Given the description of an element on the screen output the (x, y) to click on. 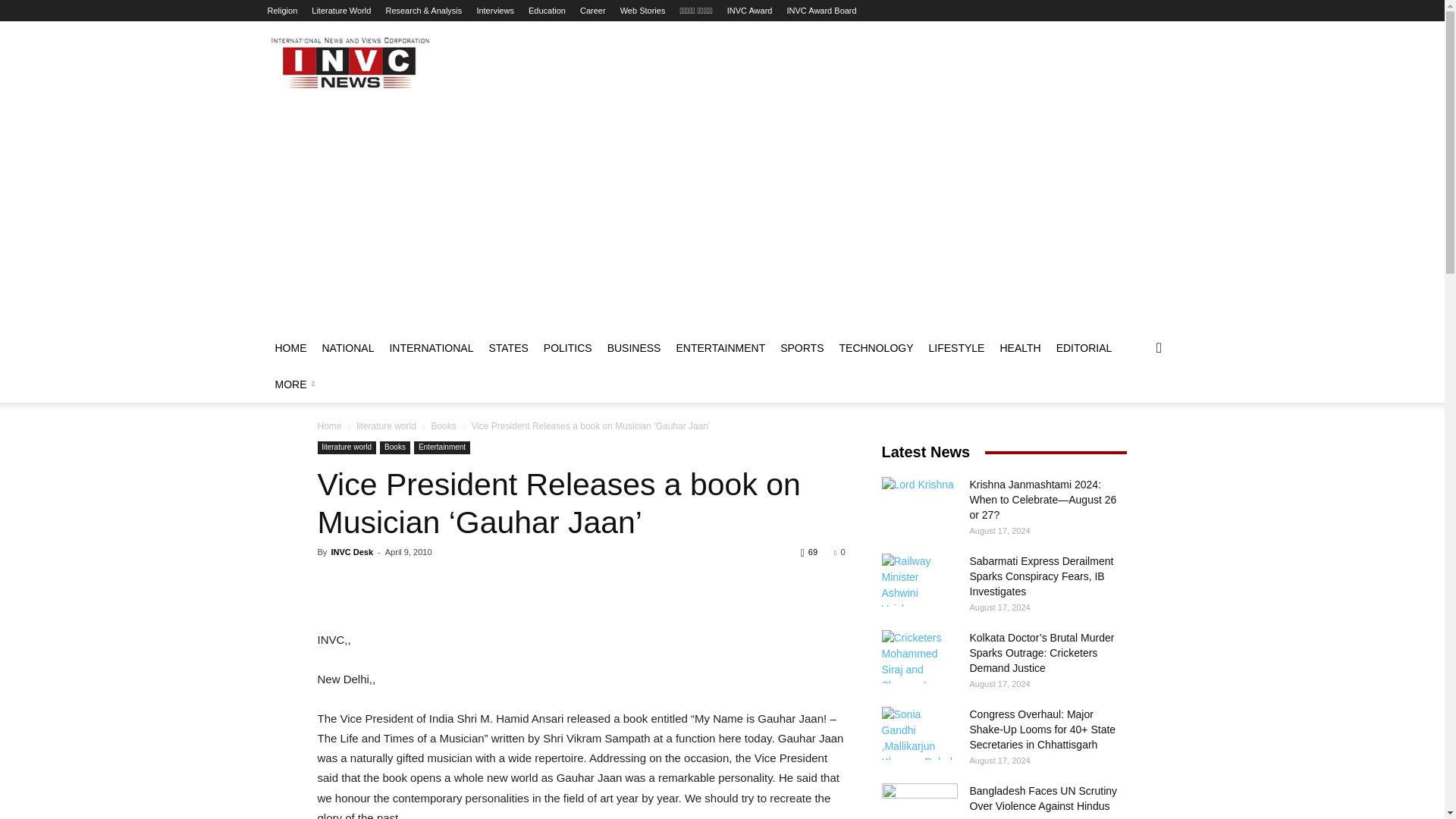
INVC (348, 62)
Religion (281, 10)
View all posts in Books (442, 425)
INVC Award Board (822, 10)
Career (592, 10)
Education (547, 10)
View all posts in literature world (386, 425)
Interviews (494, 10)
Web Stories (642, 10)
INVC Award (749, 10)
